Given the description of an element on the screen output the (x, y) to click on. 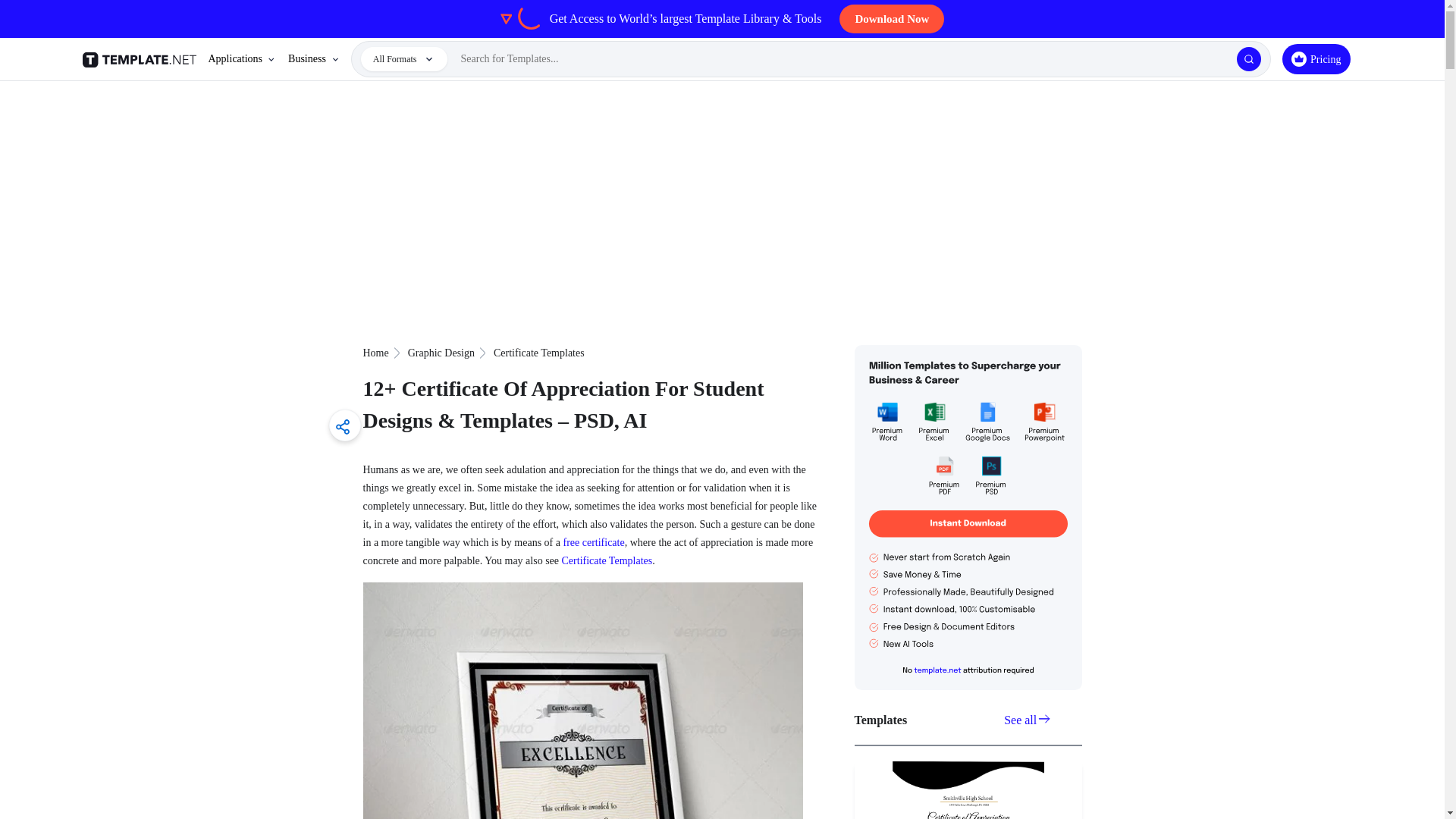
Template.net (141, 59)
Download Now (891, 18)
Pricing (1315, 59)
